Given the description of an element on the screen output the (x, y) to click on. 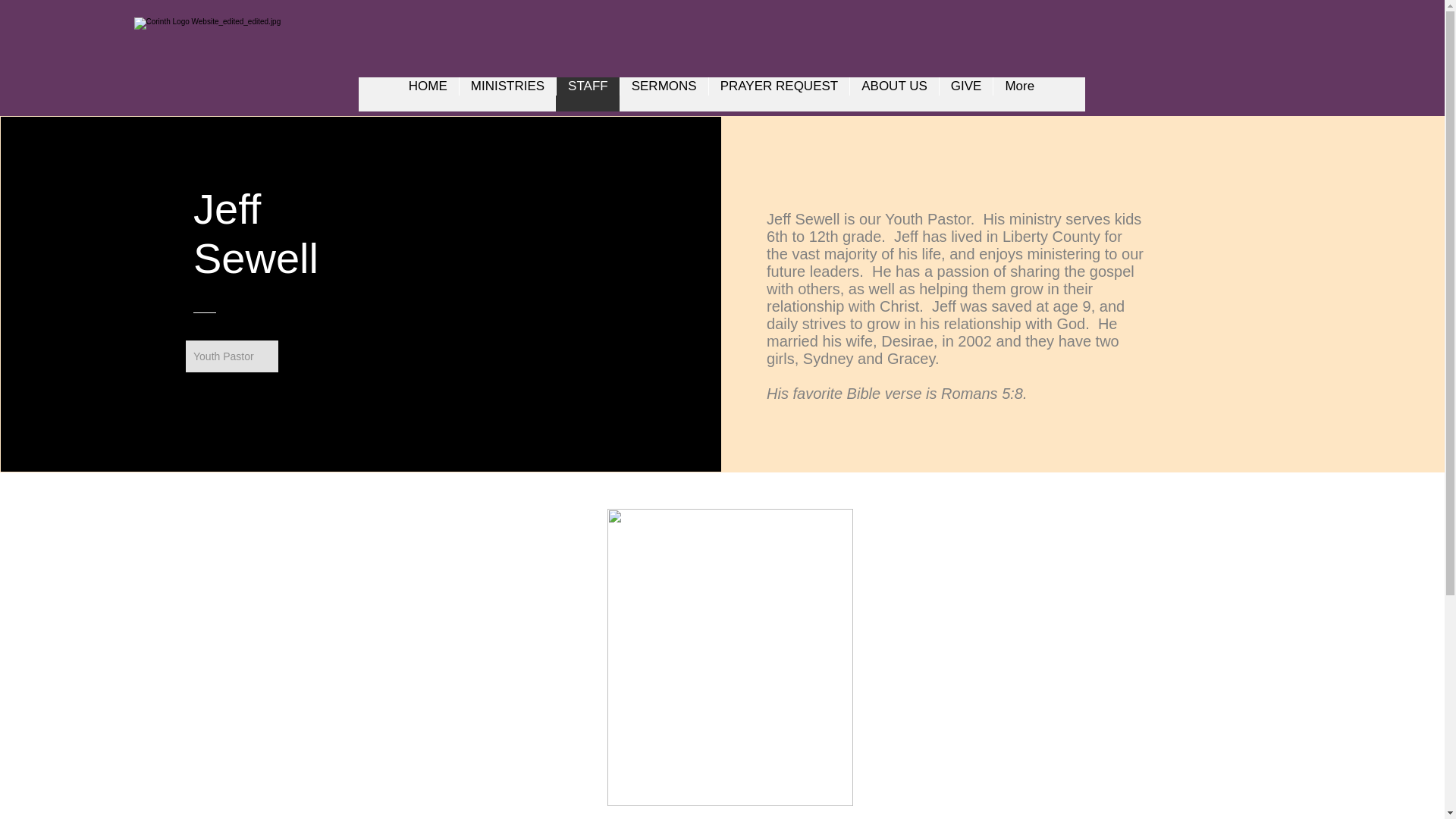
PRAYER REQUEST (778, 93)
ABOUT US (893, 93)
church.jpg (730, 656)
GIVE (965, 93)
MINISTRIES (507, 93)
HOME (427, 93)
STAFF (588, 93)
Youth Pastor (232, 356)
SERMONS (663, 93)
